Given the description of an element on the screen output the (x, y) to click on. 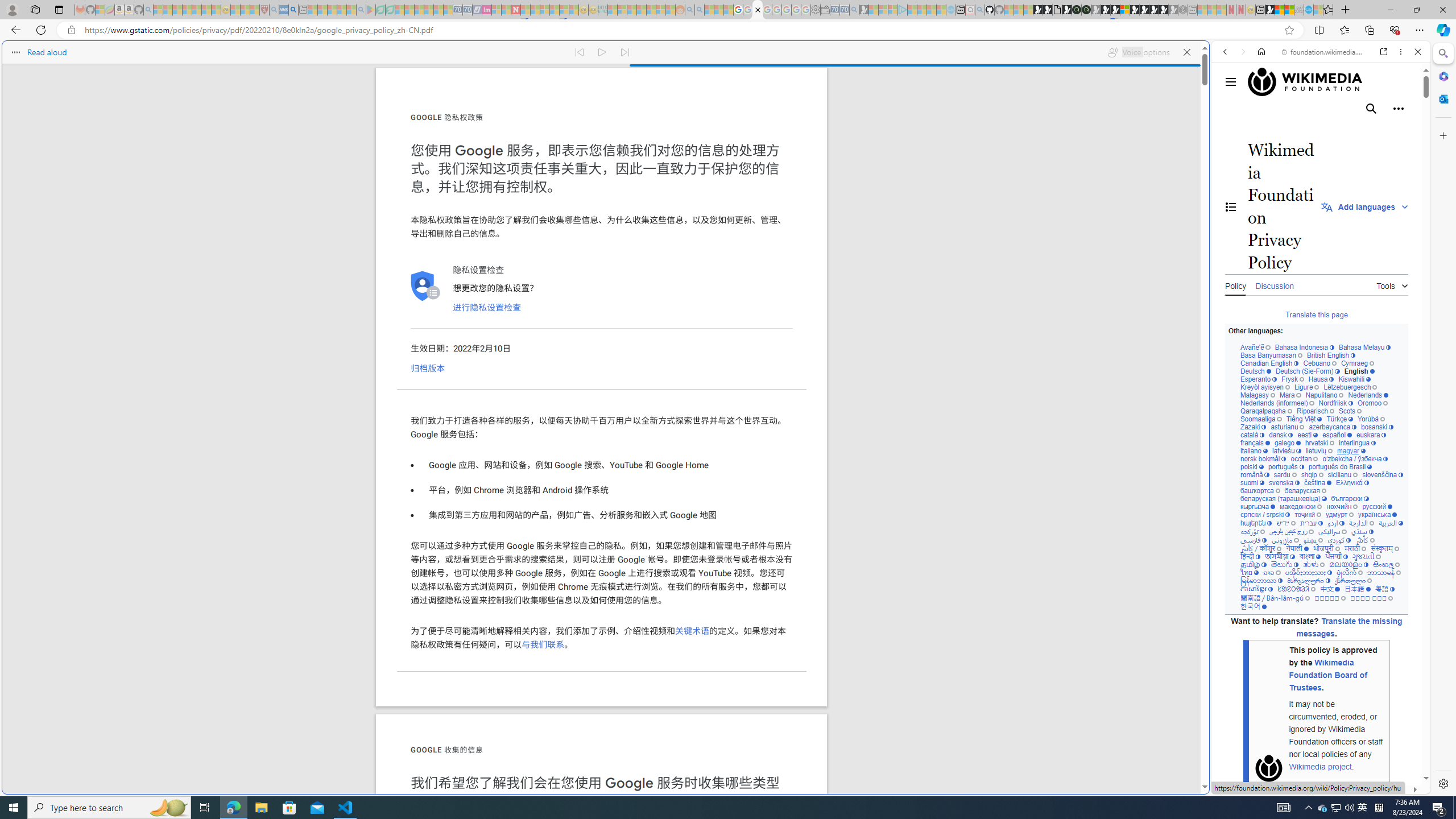
Basa Banyumasan (1271, 355)
Zazaki (1253, 427)
Cebuano (1319, 363)
Sign in to your account (1124, 9)
